Given the description of an element on the screen output the (x, y) to click on. 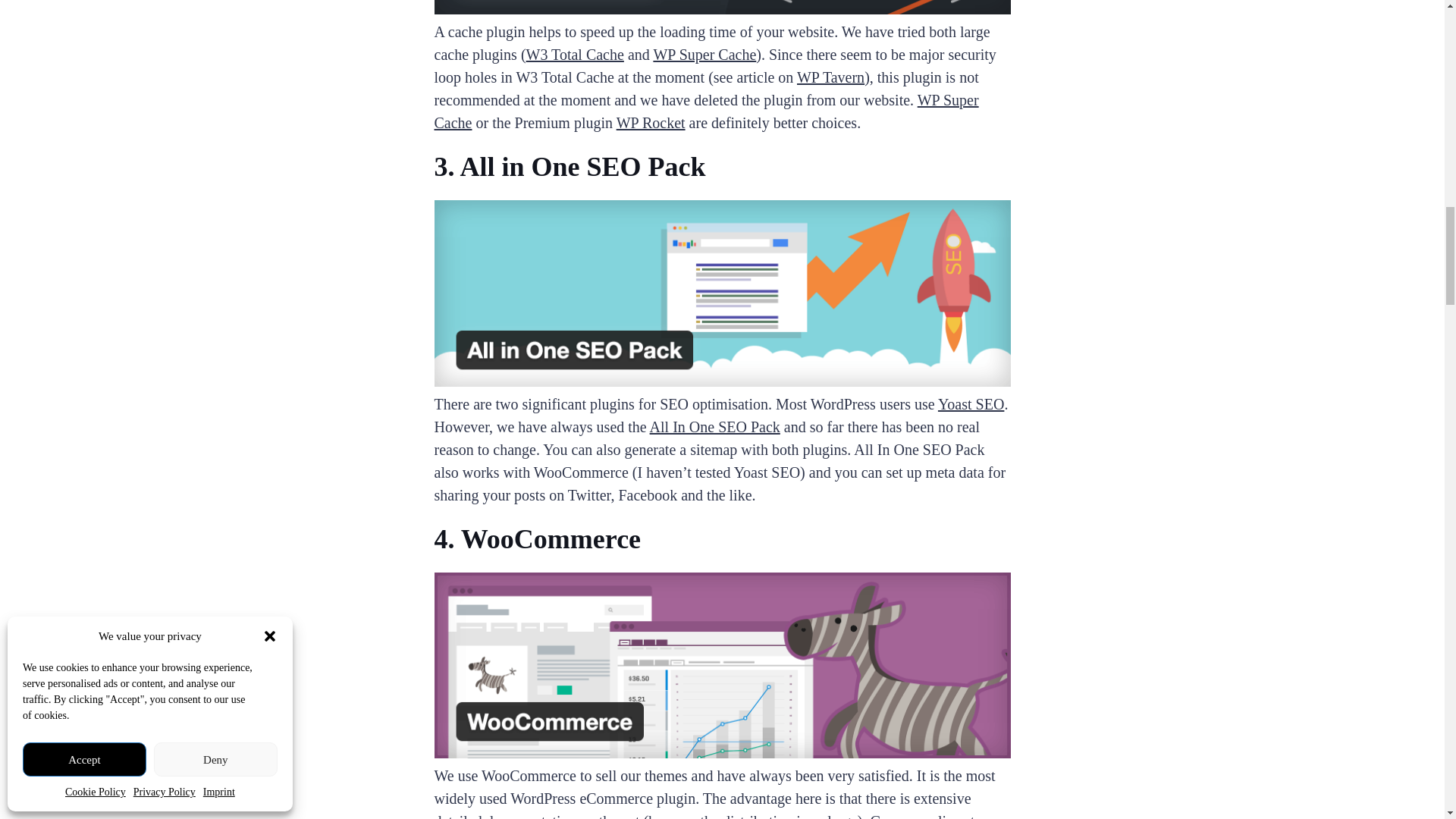
W3 Total Cache (574, 54)
Yoast SEO (970, 403)
WP Tavern (830, 76)
WP Super Cache (705, 111)
WP Super Cache (703, 54)
All In One SEO Pack (714, 426)
WP Rocket (650, 122)
